Given the description of an element on the screen output the (x, y) to click on. 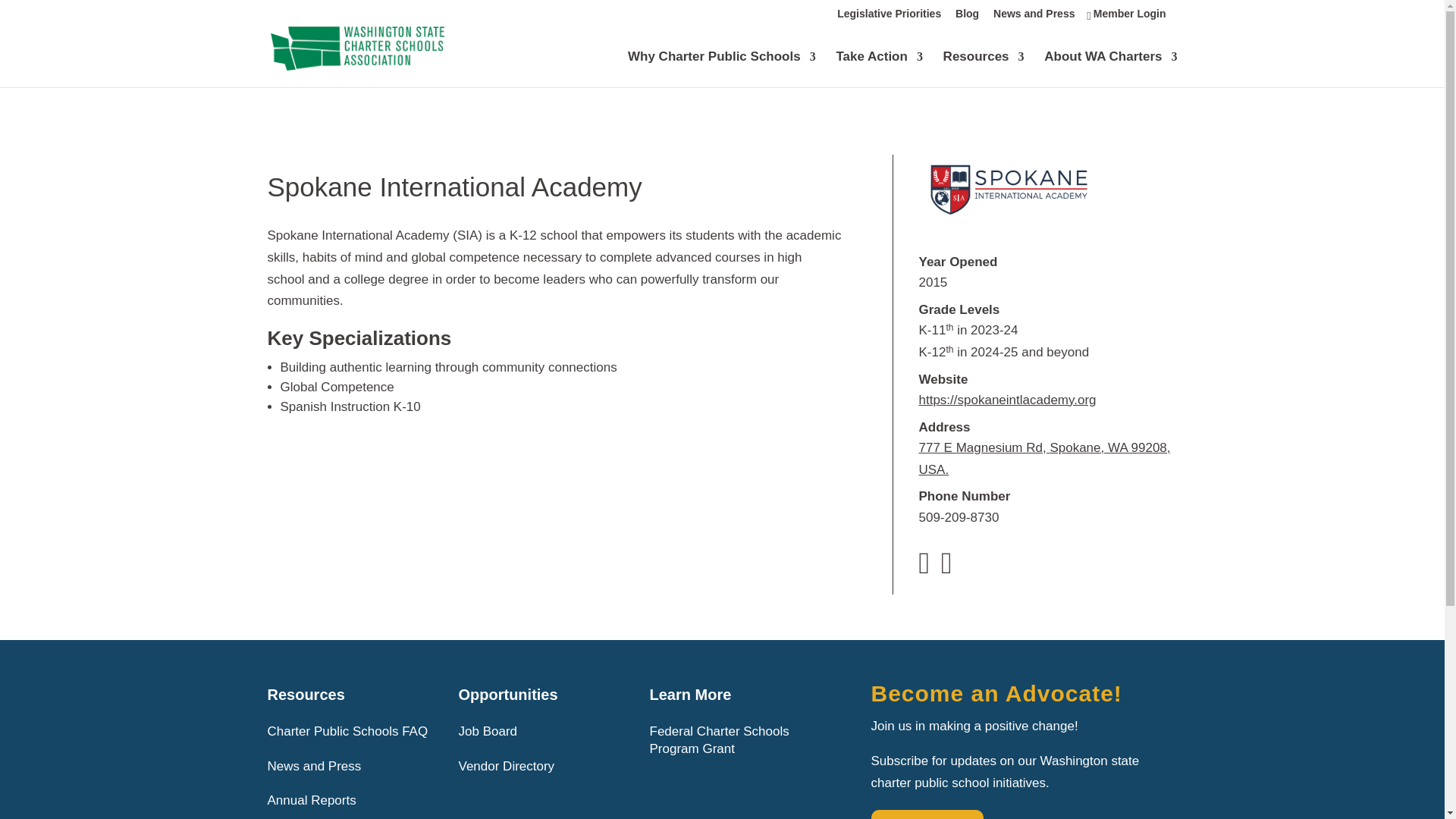
Take Action (878, 68)
Legislative Priorities (888, 16)
Take Action (878, 68)
Member Login (1127, 16)
About WA Charters (1109, 68)
Legislative Priorities (888, 16)
Why Charter Public Schools (721, 68)
Blog (966, 16)
Why Charter Public Schools (721, 68)
Member Login (1127, 16)
Resources (984, 68)
News and Press (1033, 16)
Resources (984, 68)
About WA Charters (1109, 68)
